Given the description of an element on the screen output the (x, y) to click on. 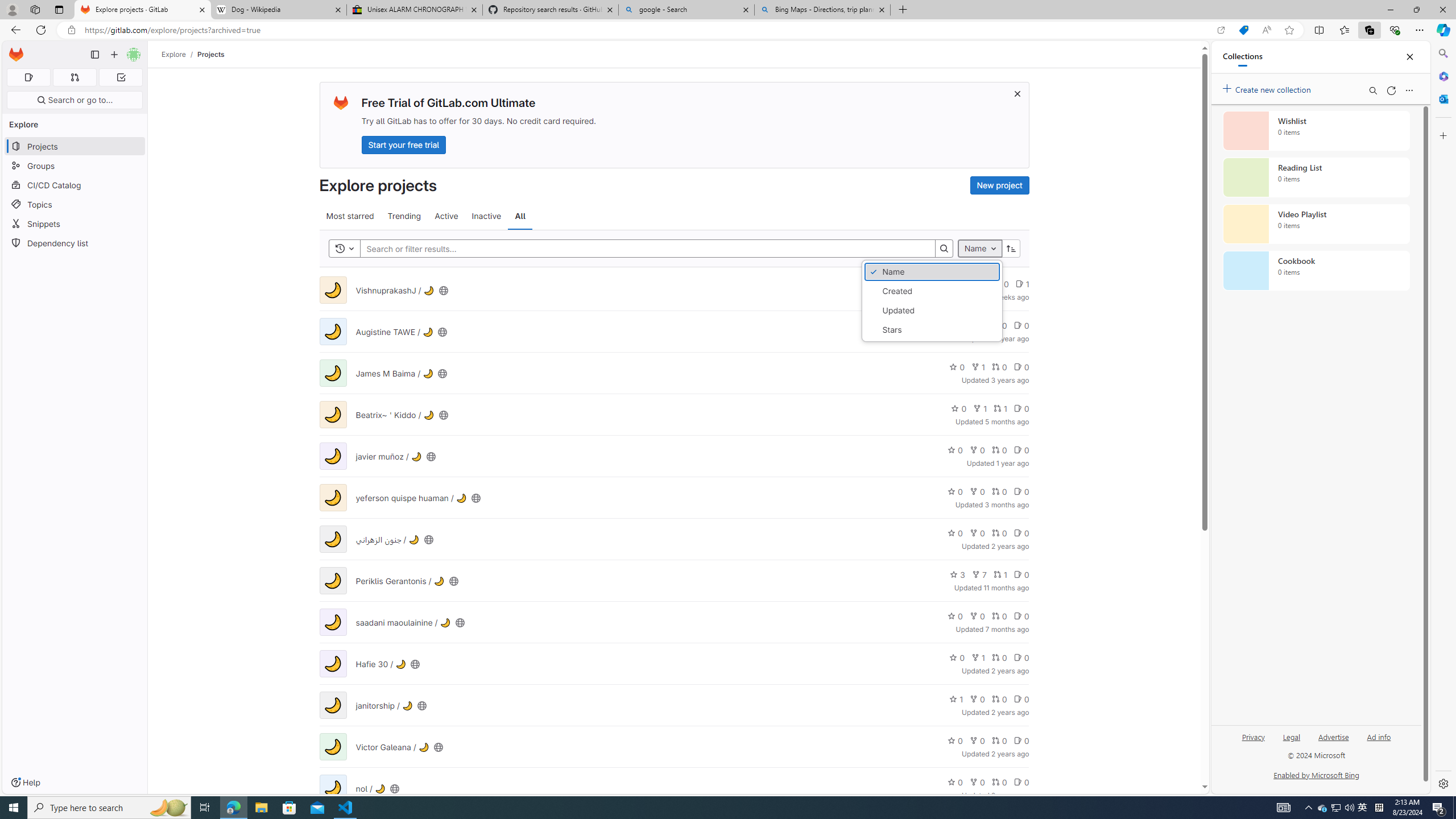
CI/CD Catalog (74, 185)
7 (979, 574)
Merge requests 0 (74, 76)
CI/CD Catalog (74, 185)
Toggle history (344, 248)
